Given the description of an element on the screen output the (x, y) to click on. 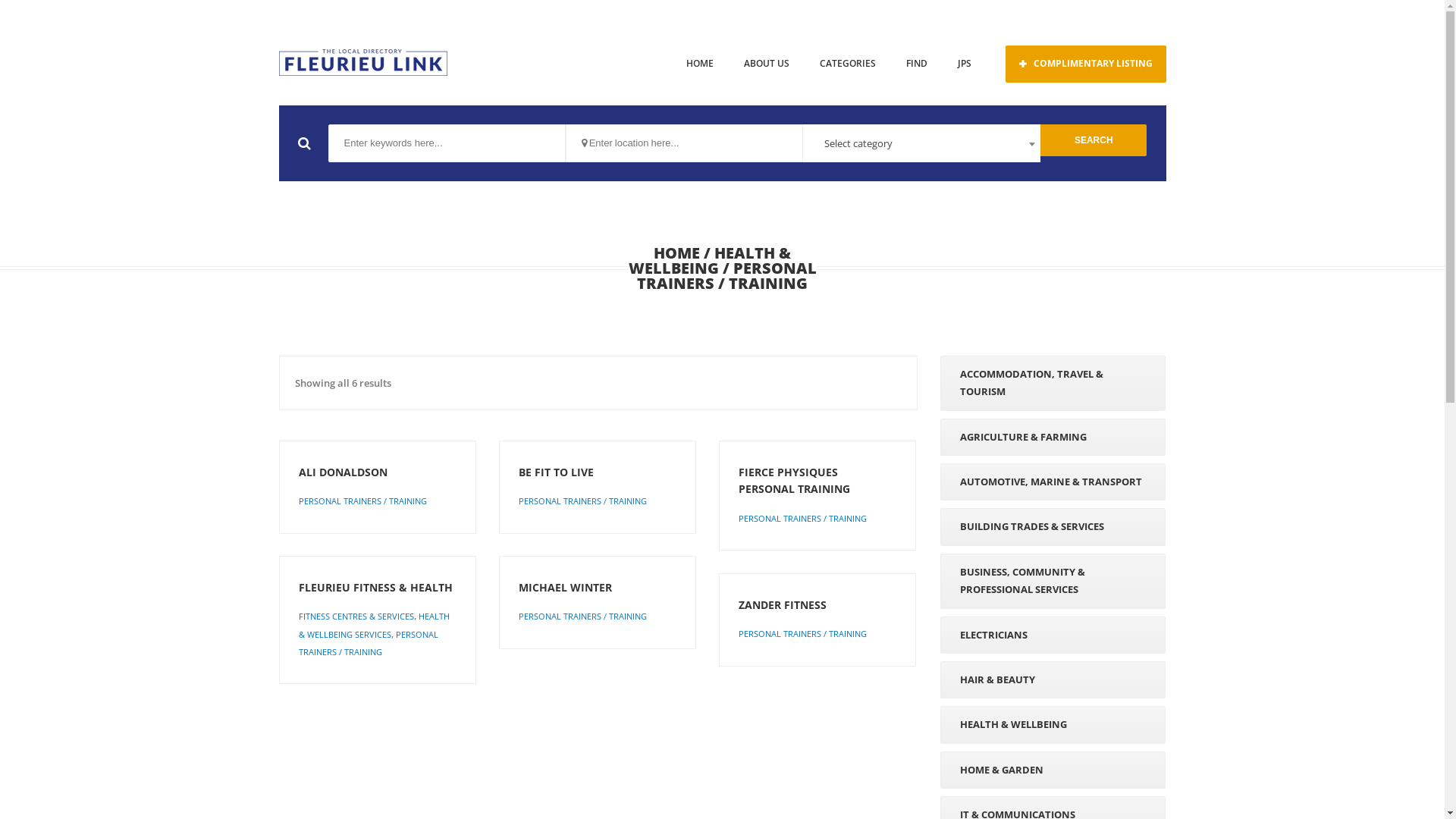
BUILDING TRADES & SERVICES Element type: text (1053, 526)
PERSONAL TRAINERS / TRAINING Element type: text (802, 518)
ACCOMMODATION, TRAVEL & TOURISM Element type: text (1053, 383)
PERSONAL TRAINERS / TRAINING Element type: text (582, 615)
HEALTH & WELLBEING Element type: text (1053, 724)
BE FIT TO LIVE Element type: text (597, 472)
HEALTH & WELLBEING SERVICES Element type: text (373, 624)
FIND Element type: text (915, 63)
PERSONAL TRAINERS / TRAINING Element type: text (582, 500)
FIERCE PHYSIQUES PERSONAL TRAINING Element type: text (817, 481)
JPS Element type: text (963, 63)
MICHAEL WINTER Element type: text (597, 587)
ABOUT US Element type: text (765, 63)
FLEURIEU FITNESS & HEALTH Element type: text (377, 587)
COMPLIMENTARY LISTING Element type: text (1085, 63)
FITNESS CENTRES & SERVICES Element type: text (356, 615)
PERSONAL TRAINERS / TRAINING Element type: text (368, 642)
HOME Element type: text (676, 252)
HOME Element type: text (699, 63)
ALI DONALDSON Element type: text (377, 472)
ZANDER FITNESS Element type: text (817, 604)
Search Element type: text (1093, 140)
ELECTRICIANS Element type: text (1053, 634)
HEALTH & WELLBEING Element type: text (708, 260)
AGRICULTURE & FARMING Element type: text (1053, 436)
PERSONAL TRAINERS / TRAINING Element type: text (802, 633)
CATEGORIES Element type: text (846, 63)
PERSONAL TRAINERS / TRAINING Element type: text (362, 500)
HOME & GARDEN Element type: text (1053, 769)
BUSINESS, COMMUNITY & PROFESSIONAL SERVICES Element type: text (1053, 580)
AUTOMOTIVE, MARINE & TRANSPORT Element type: text (1053, 481)
HAIR & BEAUTY Element type: text (1053, 679)
